Given the description of an element on the screen output the (x, y) to click on. 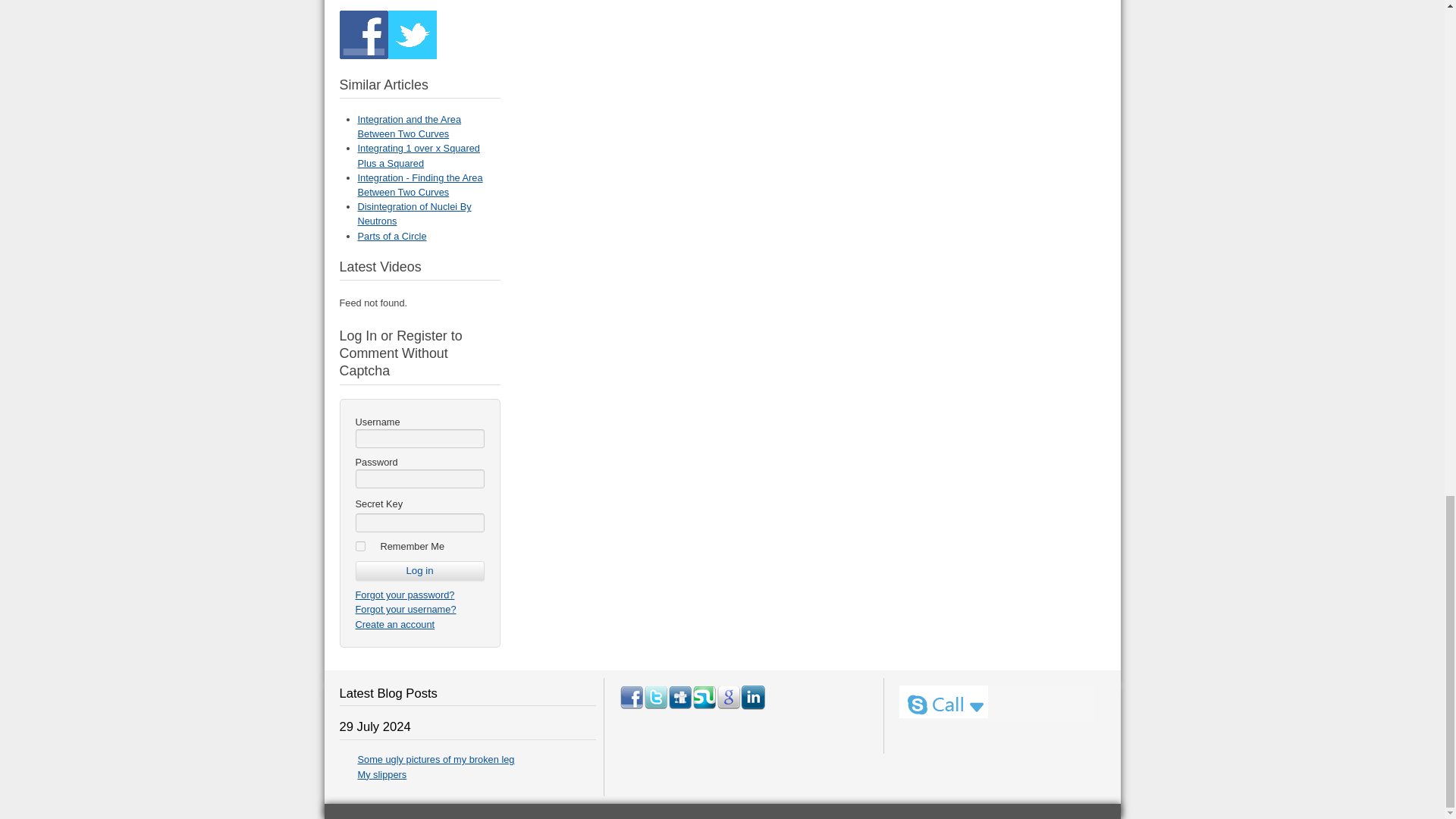
Twitter (655, 697)
Digg (680, 697)
Log in (419, 570)
Google Bookmarks (728, 697)
yes (360, 546)
Facebook (631, 697)
Stumbleupon (704, 697)
